Given the description of an element on the screen output the (x, y) to click on. 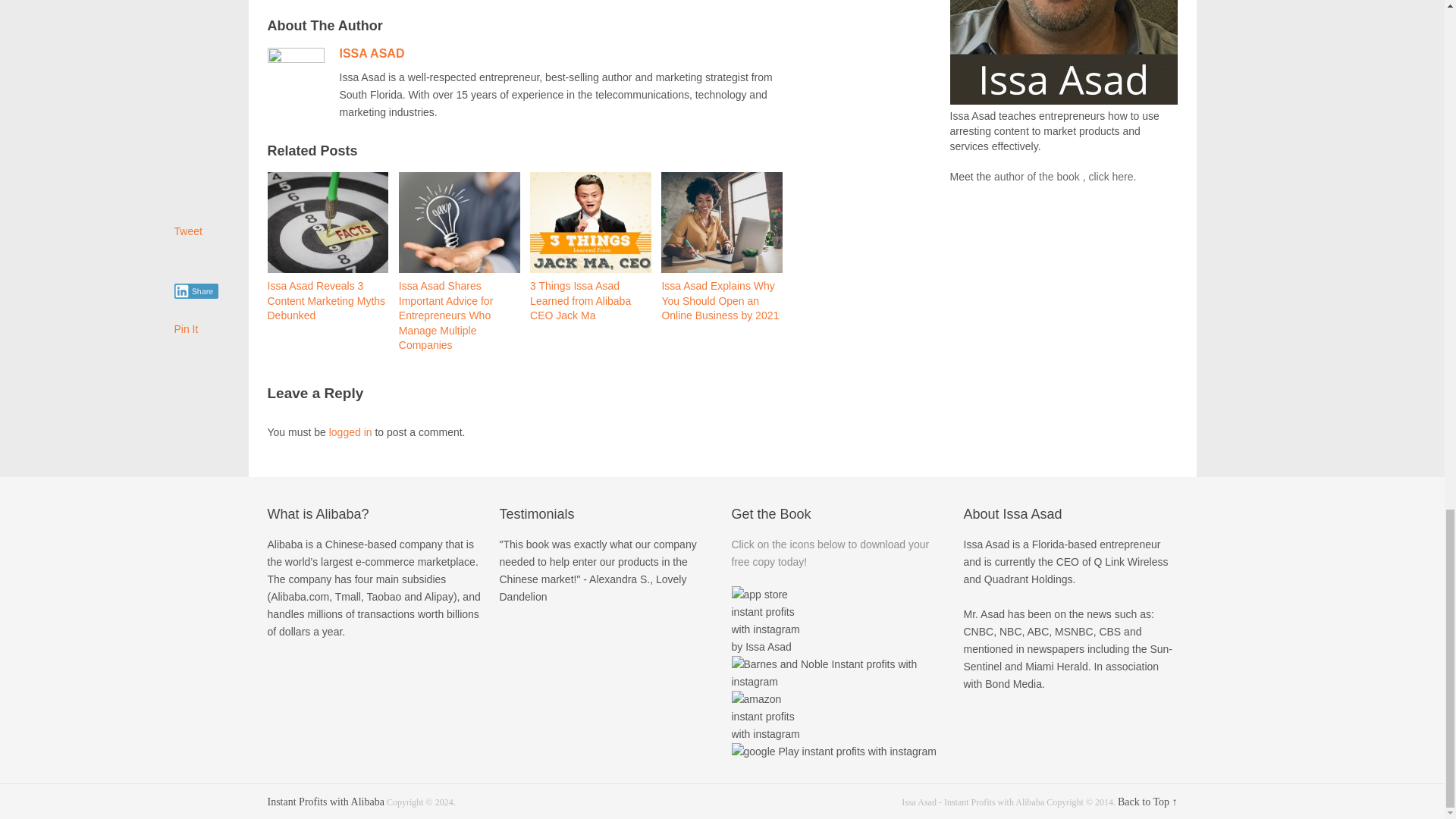
ISSA ASAD (371, 52)
logged in (350, 431)
